Given the description of an element on the screen output the (x, y) to click on. 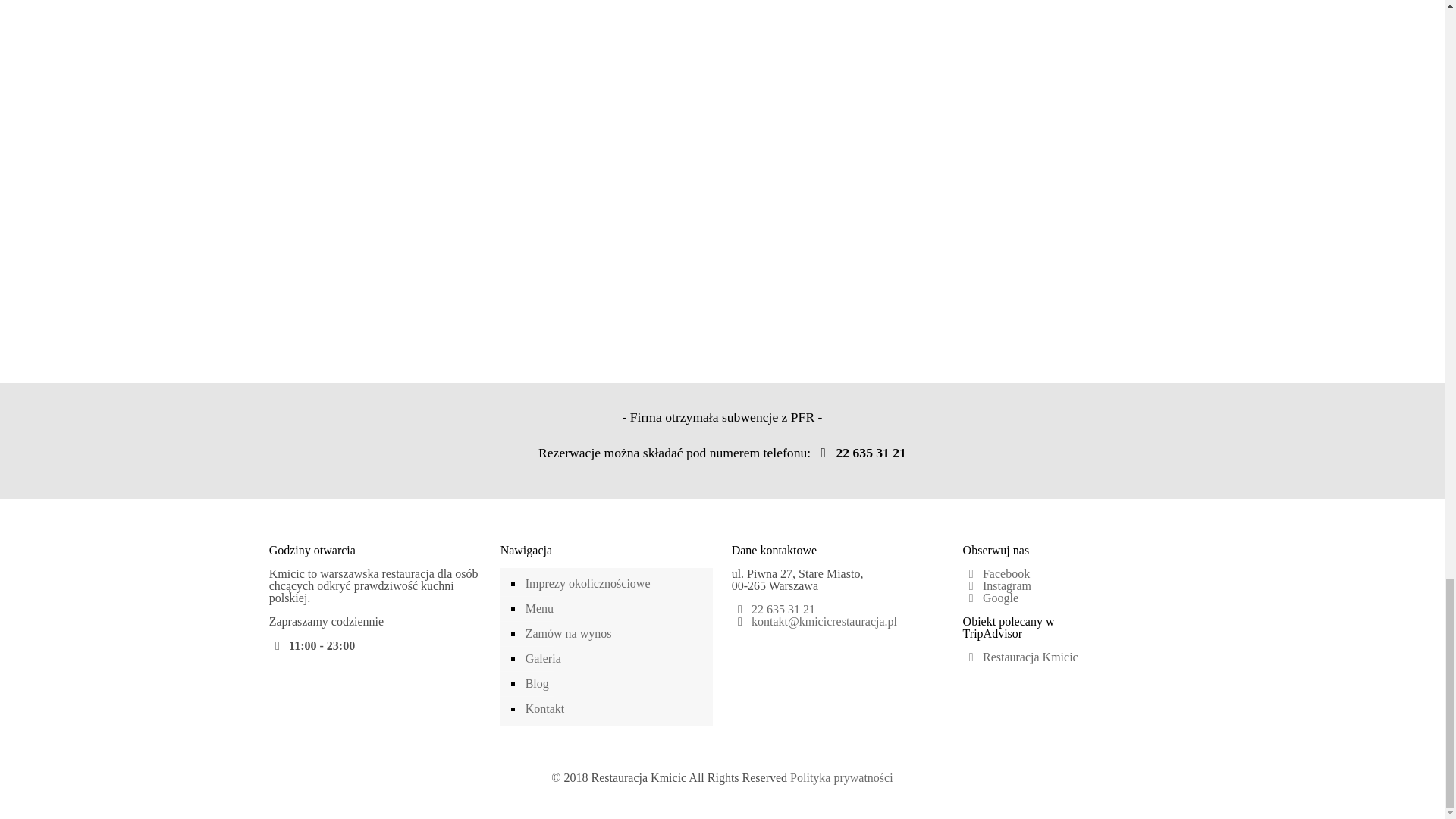
Menu (614, 609)
22 635 31 21 (859, 452)
22 635 31 21 (783, 608)
Facebook (996, 573)
Restauracja Kmicic (1020, 656)
Instagram (996, 585)
Blog (614, 683)
Kontakt (614, 708)
Galeria (614, 659)
Google (989, 597)
